Given the description of an element on the screen output the (x, y) to click on. 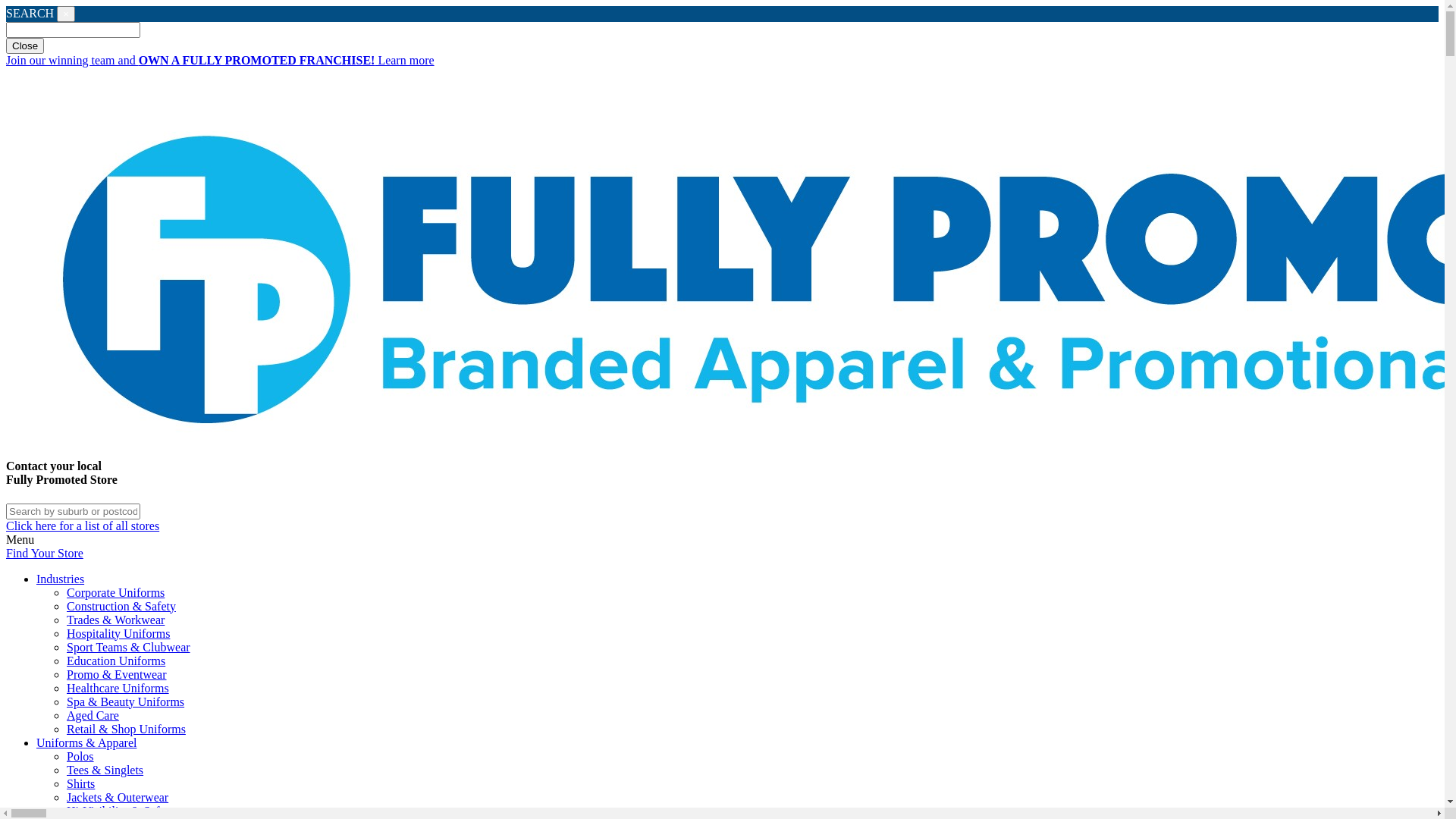
Sport Teams & Clubwear Element type: text (128, 646)
Education Uniforms Element type: text (115, 660)
Industries Element type: text (737, 579)
Hi-Visibility & Safety Element type: text (120, 810)
Construction & Safety Element type: text (120, 605)
Find Your Store Element type: text (44, 552)
Healthcare Uniforms Element type: text (117, 687)
Tees & Singlets Element type: text (104, 769)
Close Element type: text (24, 45)
Retail & Shop Uniforms Element type: text (125, 728)
Corporate Uniforms Element type: text (115, 592)
Promo & Eventwear Element type: text (116, 674)
Jackets & Outerwear Element type: text (117, 796)
Polos Element type: text (80, 755)
Aged Care Element type: text (92, 715)
Trades & Workwear Element type: text (115, 619)
Uniforms & Apparel Element type: text (737, 742)
Click here for a list of all stores Element type: text (82, 525)
Spa & Beauty Uniforms Element type: text (125, 701)
Hospitality Uniforms Element type: text (117, 633)
Shirts Element type: text (80, 783)
